Given the description of an element on the screen output the (x, y) to click on. 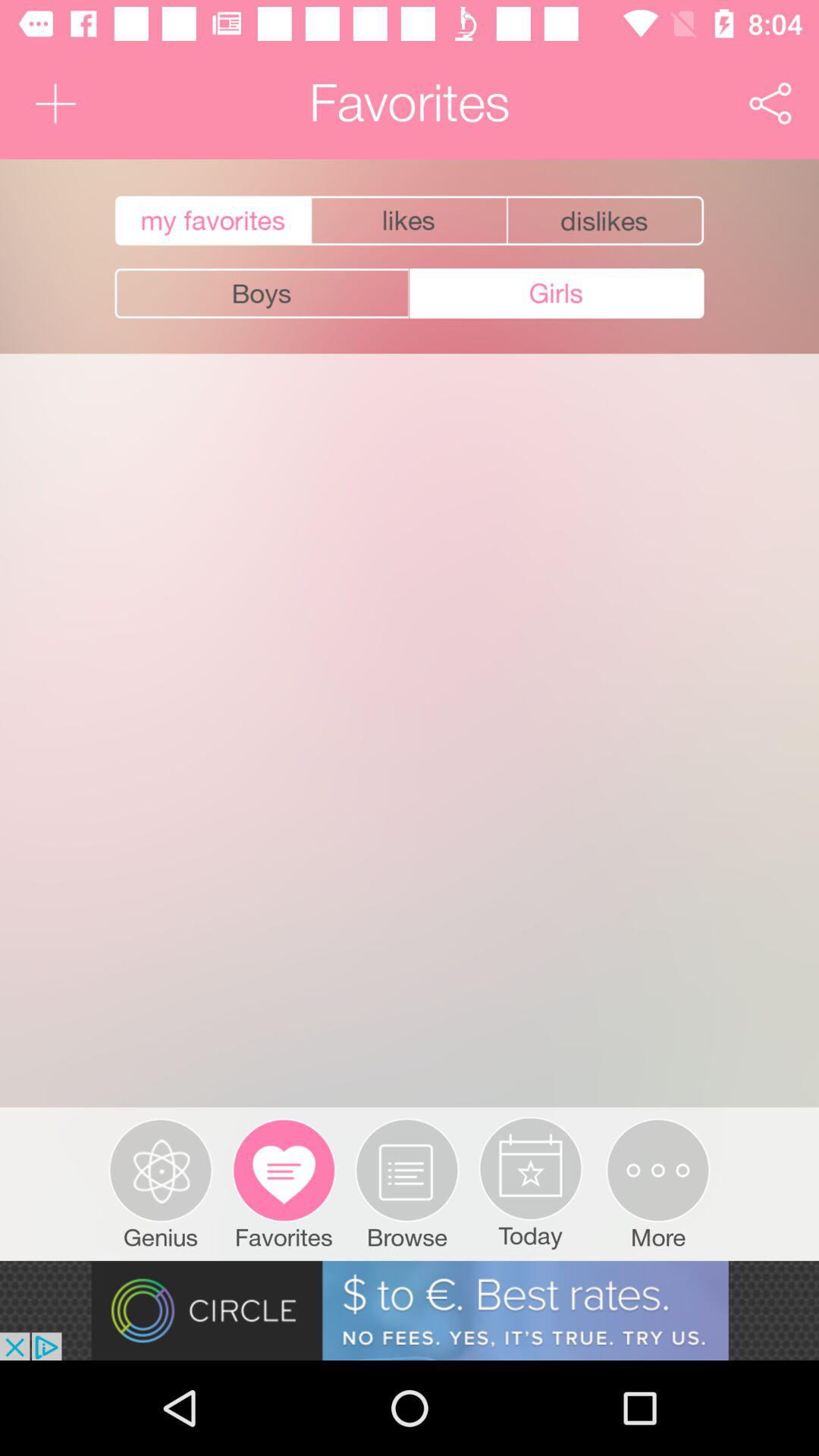
show what user likes (409, 220)
